Given the description of an element on the screen output the (x, y) to click on. 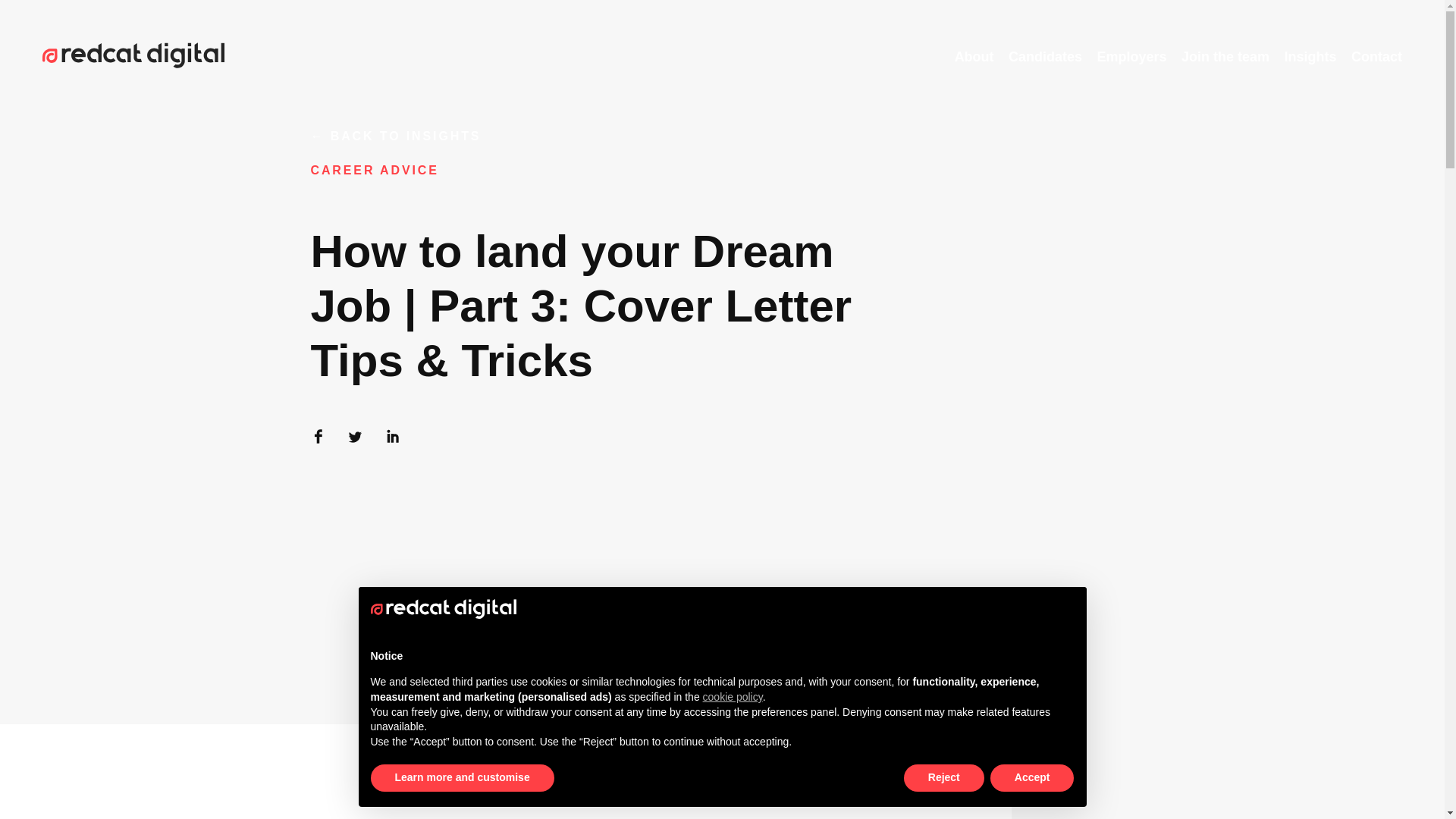
CAREER ADVICE (375, 205)
